Given the description of an element on the screen output the (x, y) to click on. 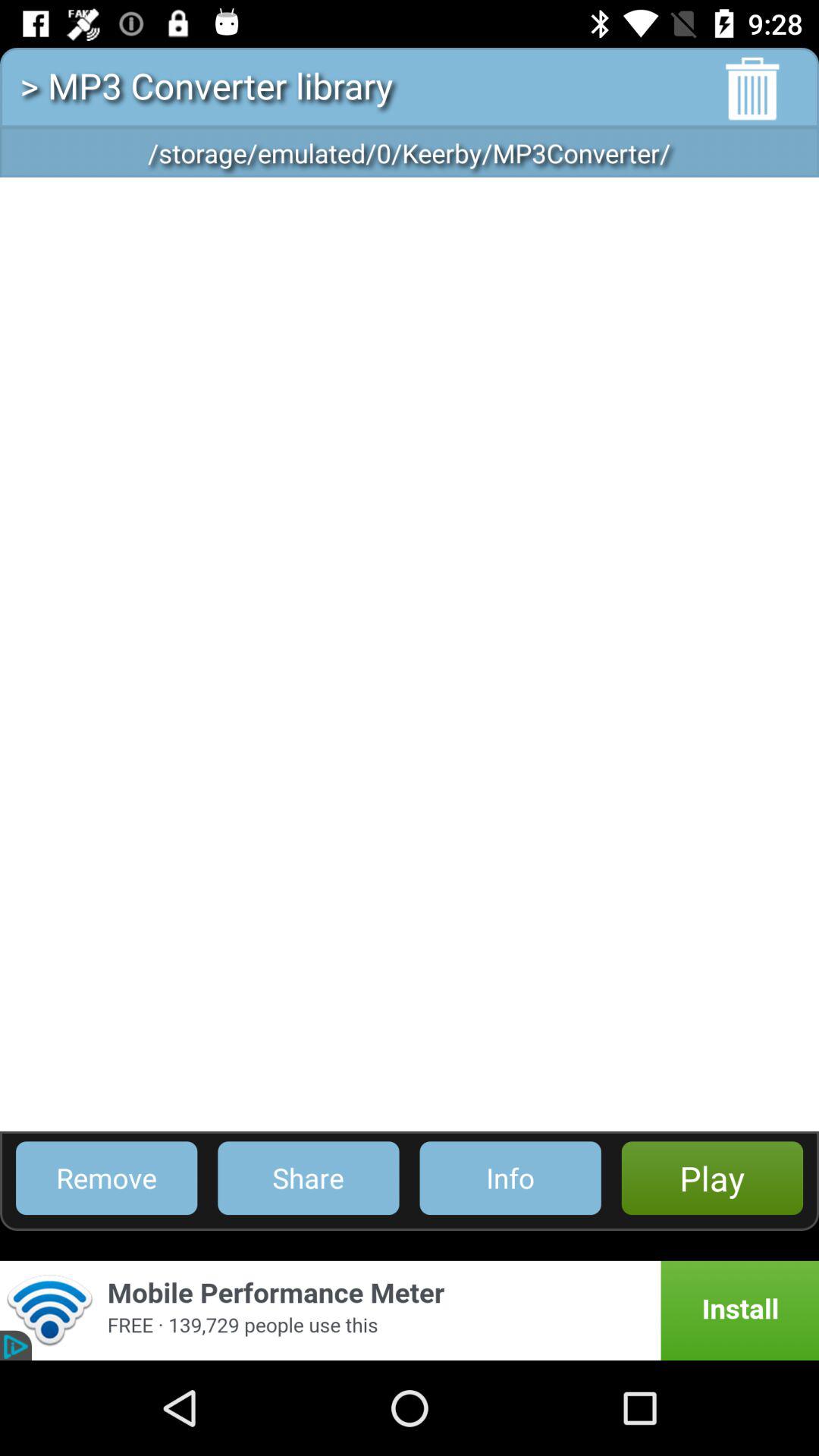
flip to remove item (106, 1177)
